Given the description of an element on the screen output the (x, y) to click on. 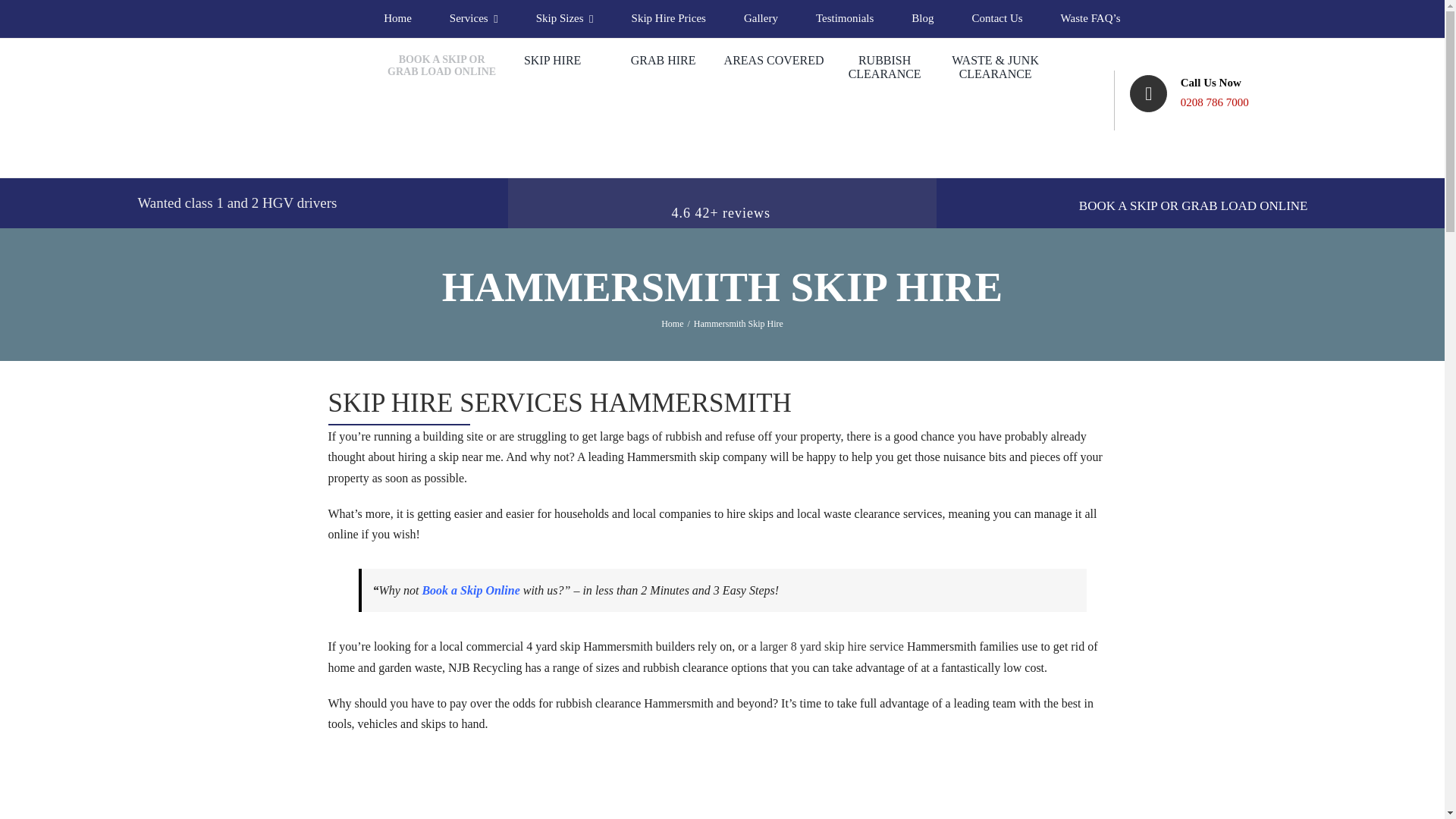
Skip Sizes (564, 18)
feet-1 (722, 754)
Services (473, 18)
24e (995, 754)
Skip Hire Prices (668, 18)
Home (397, 18)
NJB-truck-with-man (448, 754)
